Given the description of an element on the screen output the (x, y) to click on. 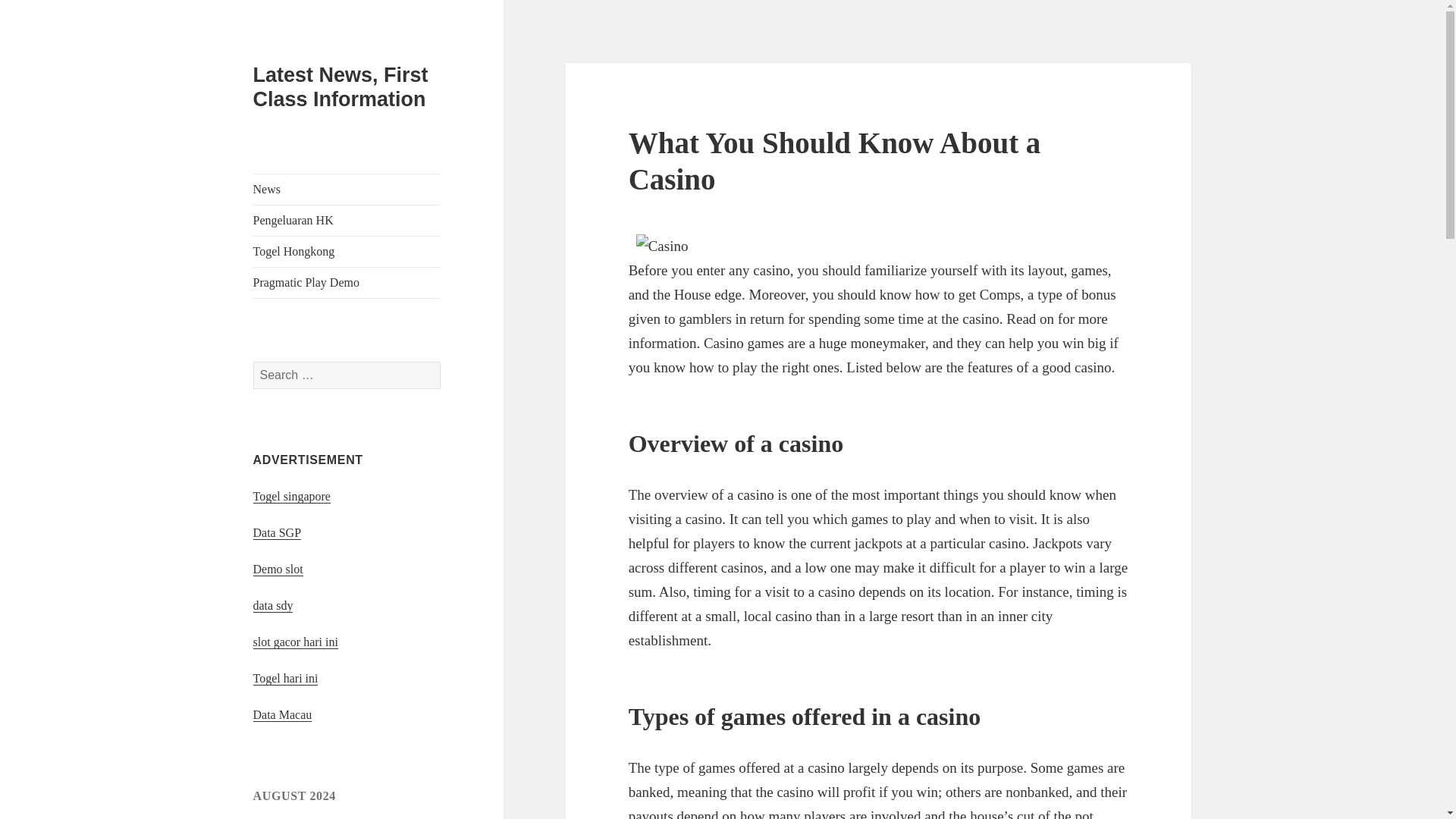
slot gacor hari ini (295, 642)
Togel hari ini (285, 678)
data sdy (273, 605)
News (347, 189)
Data SGP (277, 532)
Pengeluaran HK (347, 220)
Data Macau (283, 714)
Togel singapore (291, 496)
Pragmatic Play Demo (347, 282)
Demo slot (277, 569)
Latest News, First Class Information (340, 86)
Togel Hongkong (347, 251)
